Given the description of an element on the screen output the (x, y) to click on. 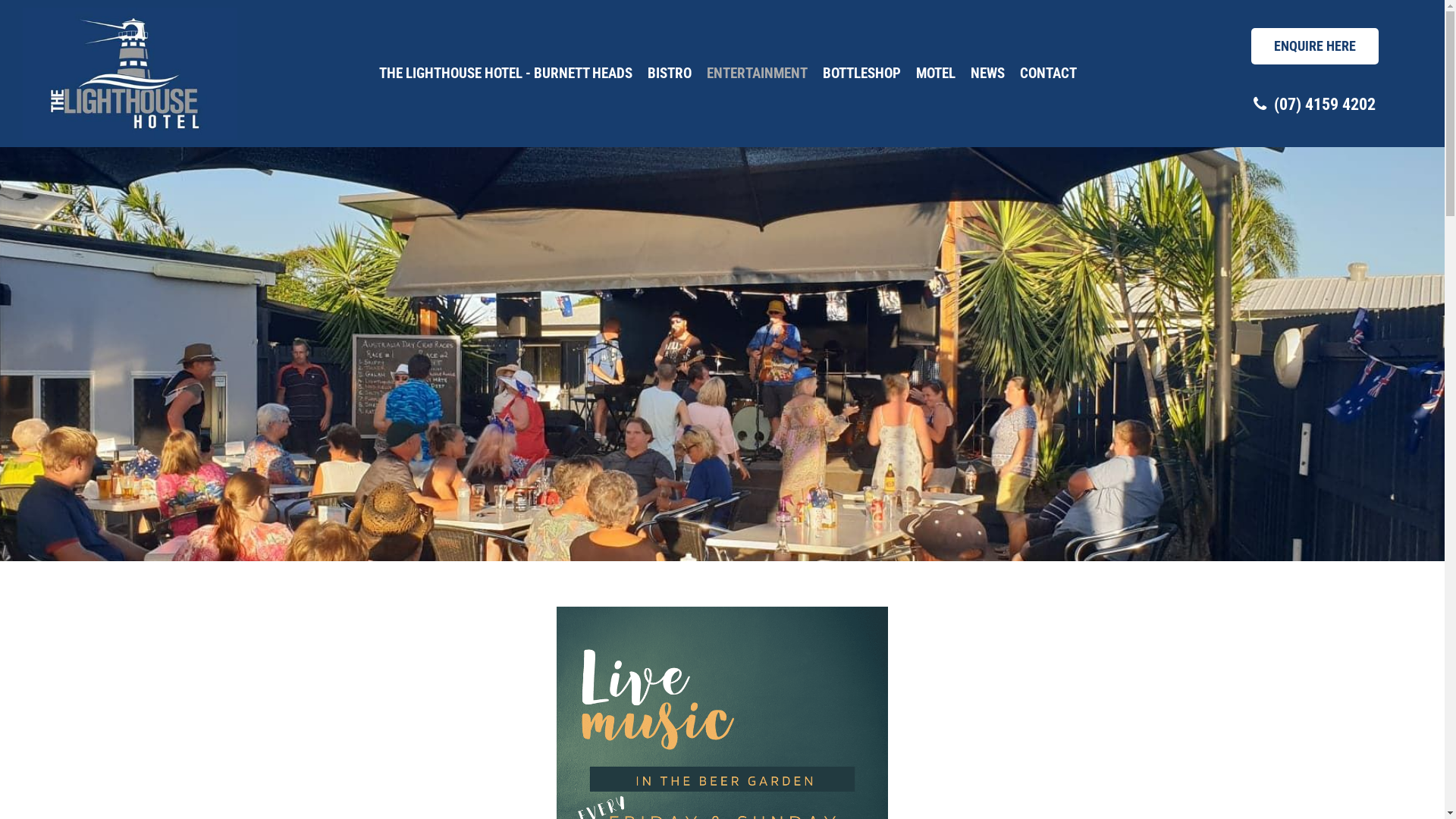
NEWS Element type: text (987, 73)
THE LIGHTHOUSE HOTEL - BURNETT HEADS Element type: text (505, 73)
MOTEL Element type: text (935, 73)
BISTRO Element type: text (669, 73)
ENTERTAINMENT Element type: text (756, 73)
BOTTLESHOP Element type: text (861, 73)
ENQUIRE HERE Element type: text (1314, 46)
CONTACT Element type: text (1047, 73)
